Given the description of an element on the screen output the (x, y) to click on. 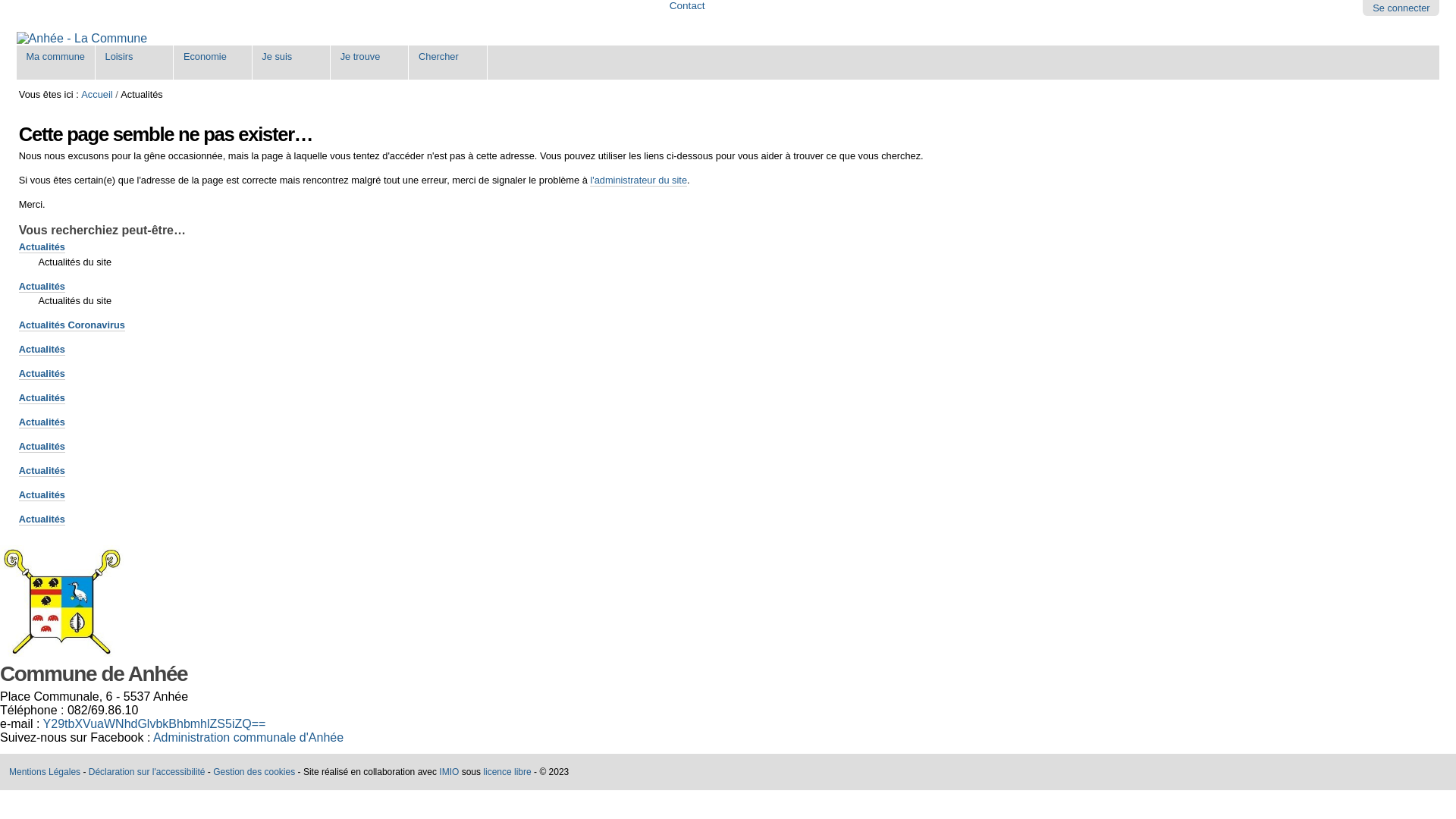
licence libre Element type: text (506, 771)
Loisirs Element type: text (134, 61)
Gestion des cookies Element type: text (253, 771)
Se connecter Element type: text (1400, 7)
Accueil Element type: text (96, 94)
Chercher Element type: text (447, 61)
l'administrateur du site Element type: text (638, 180)
Aller au contenu. Element type: text (38, 107)
Ma commune Element type: text (55, 61)
Je trouve Element type: text (369, 61)
IMIO Element type: text (448, 771)
Je suis Element type: text (291, 61)
Economie Element type: text (212, 61)
Contact Element type: text (687, 5)
Y29tbXVuaWNhdGlvbkBhbmhlZS5iZQ== Element type: text (154, 723)
